Given the description of an element on the screen output the (x, y) to click on. 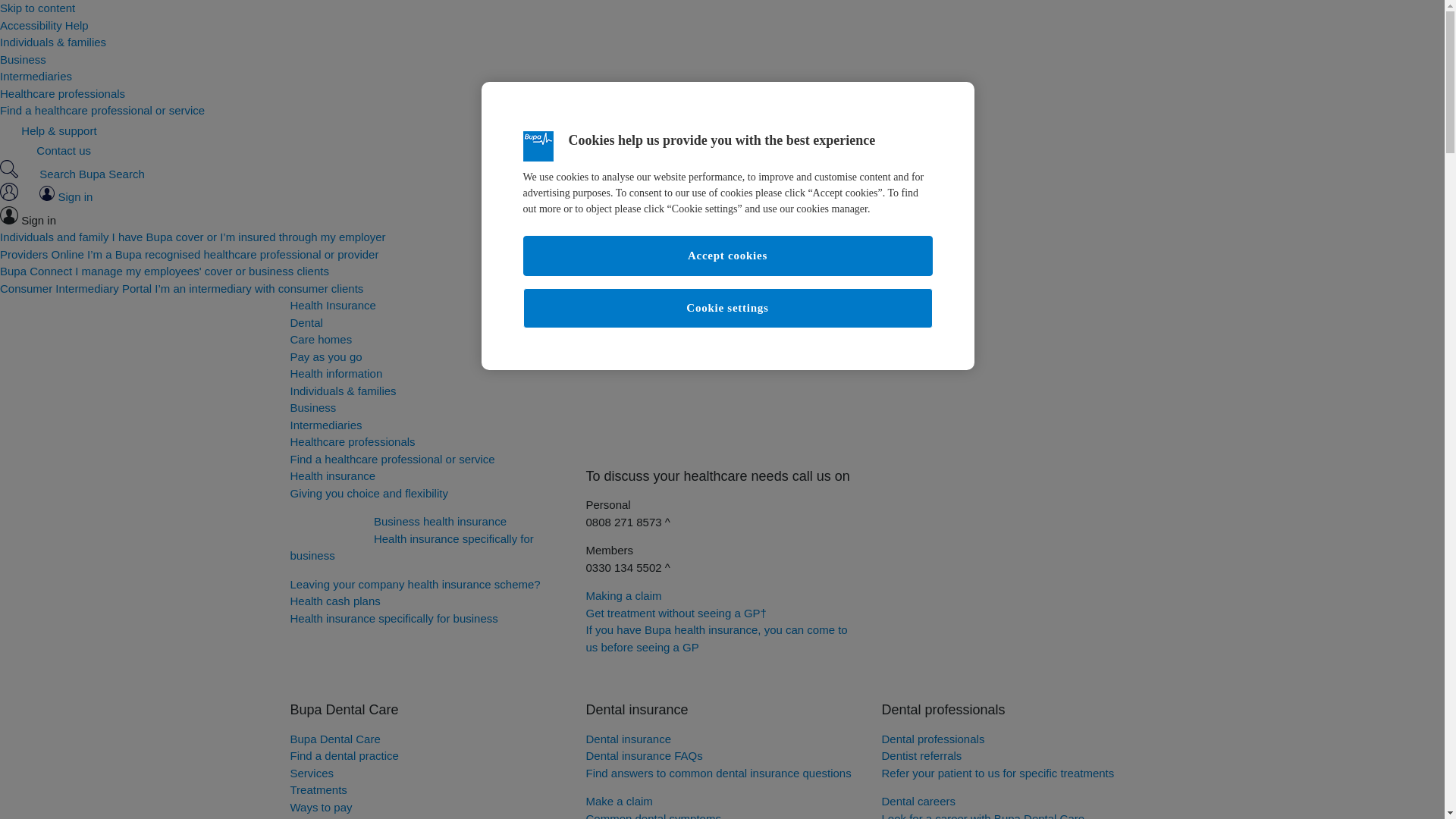
Business (23, 59)
Find a healthcare professional or service (102, 110)
Get treatment (632, 684)
Healthcare professionals (351, 440)
Find a healthcare professional or service (392, 458)
Health information (425, 485)
Care homes (335, 373)
Leaving your company health insurance scheme? (320, 338)
Pay as you go (414, 584)
Get a quote (325, 356)
Search Bupa Search (330, 530)
